Given the description of an element on the screen output the (x, y) to click on. 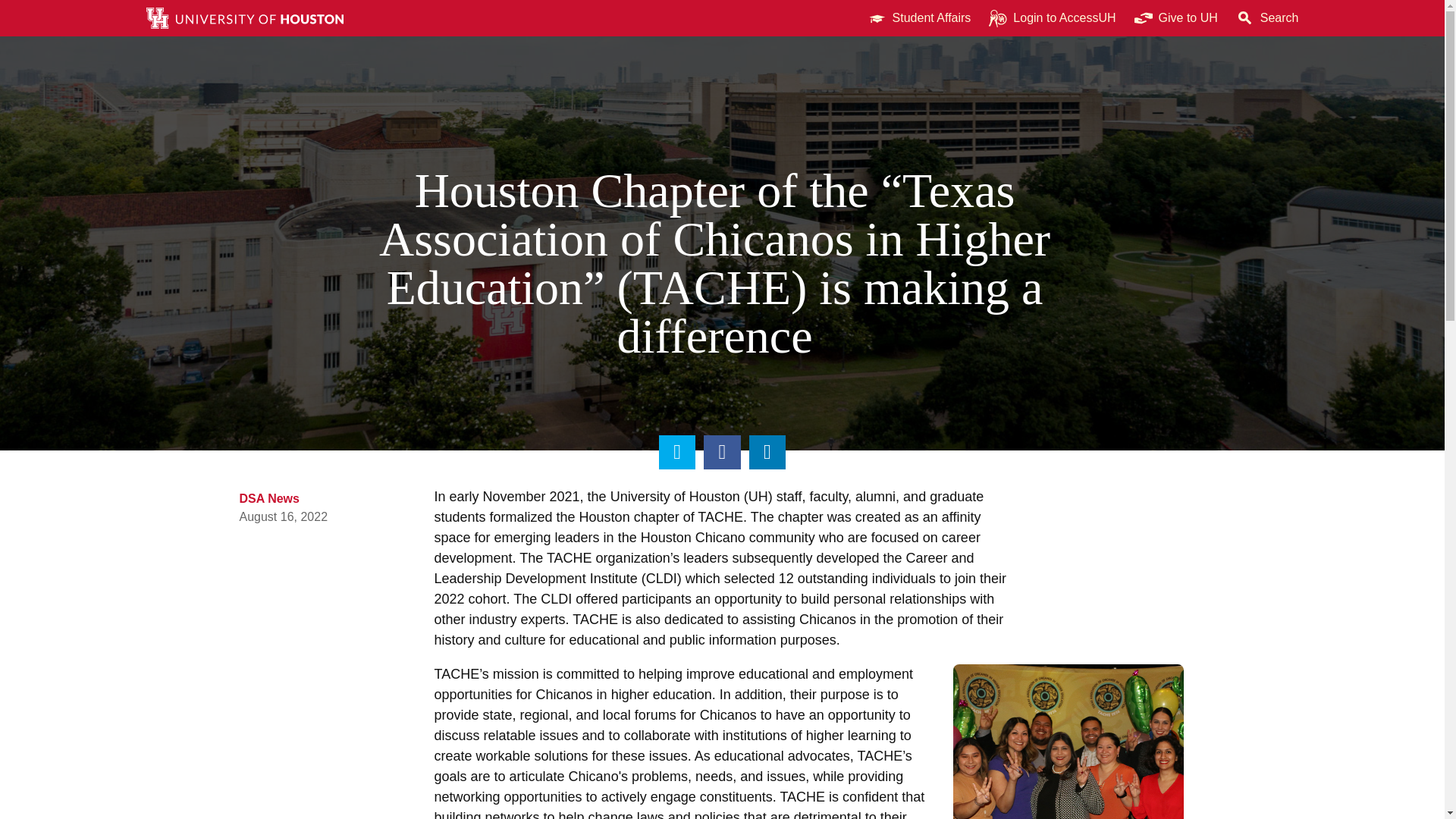
Login to AccessUH (1051, 18)
University of Houston (758, 496)
Give to UH (1176, 18)
Student Affairs (919, 18)
University of Houston (1208, 17)
Search (1267, 18)
DSA News (269, 498)
